Given the description of an element on the screen output the (x, y) to click on. 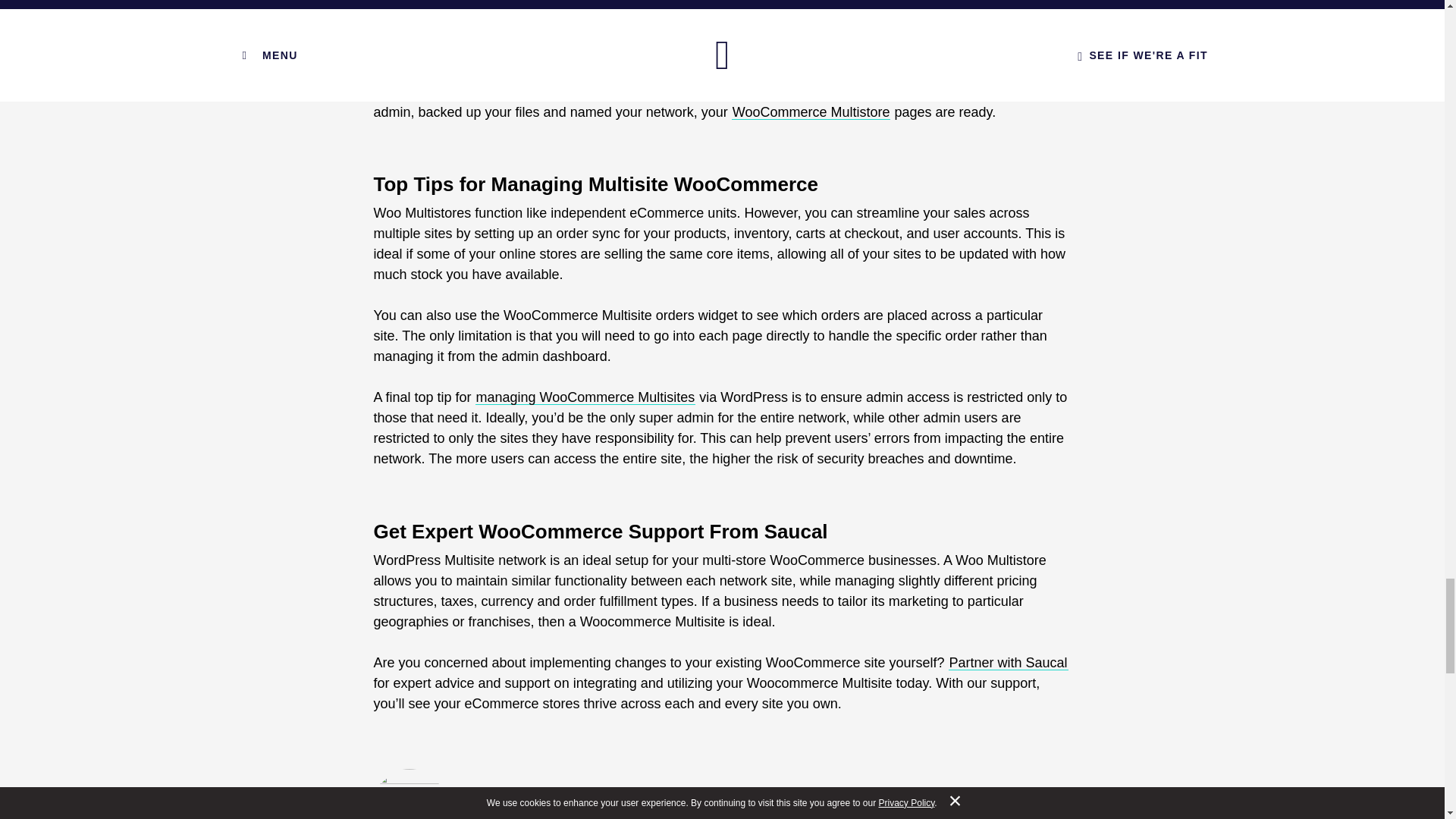
Posts by ximena (498, 812)
ximena (498, 812)
Partner with Saucal (1008, 662)
WooCommerce Multistore (811, 111)
WooCommerce Expertise (708, 812)
WooCommerce Tutorials (853, 812)
managing WooCommerce Multisites (585, 396)
